Given the description of an element on the screen output the (x, y) to click on. 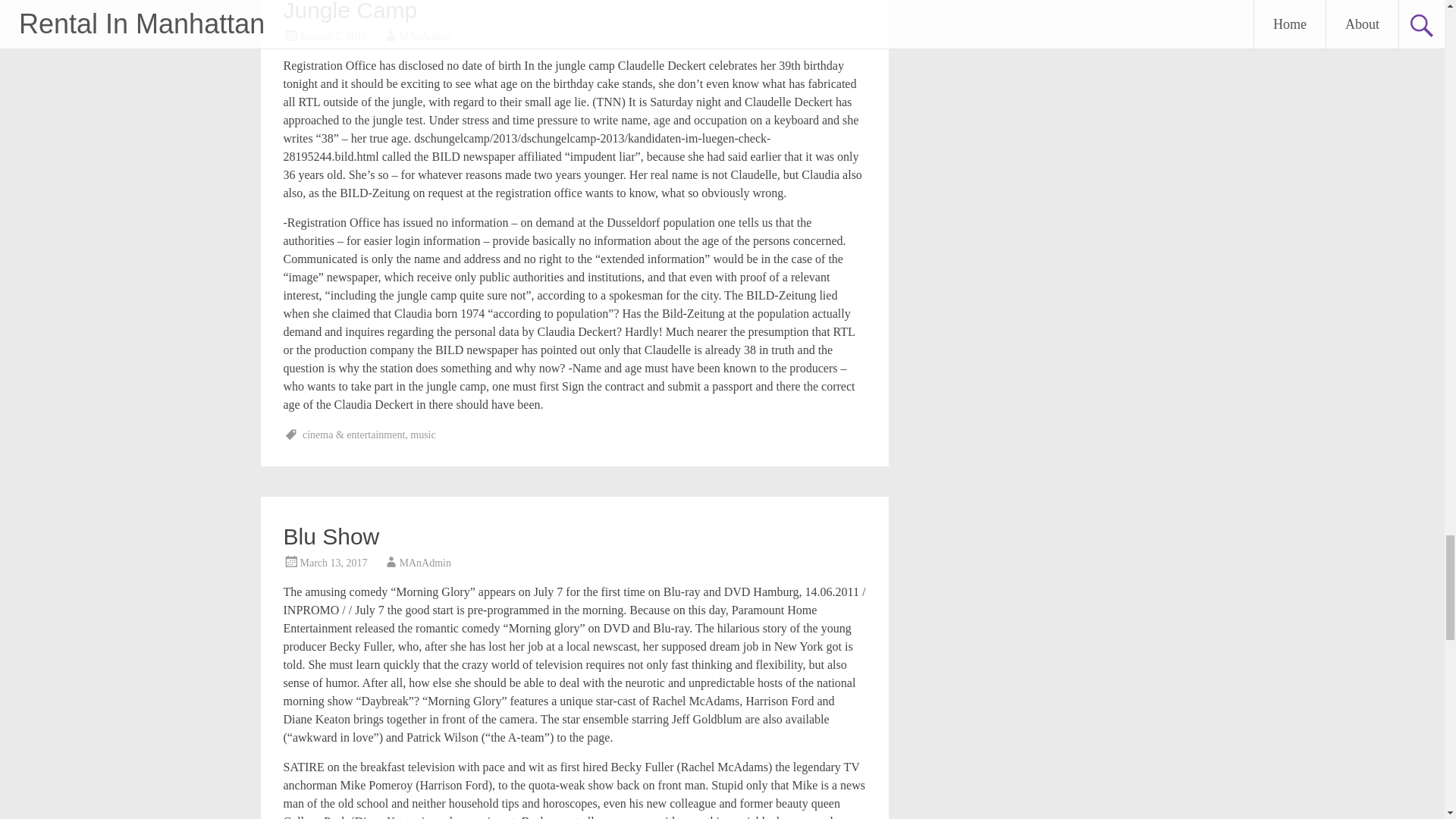
Jungle Camp (350, 11)
